Given the description of an element on the screen output the (x, y) to click on. 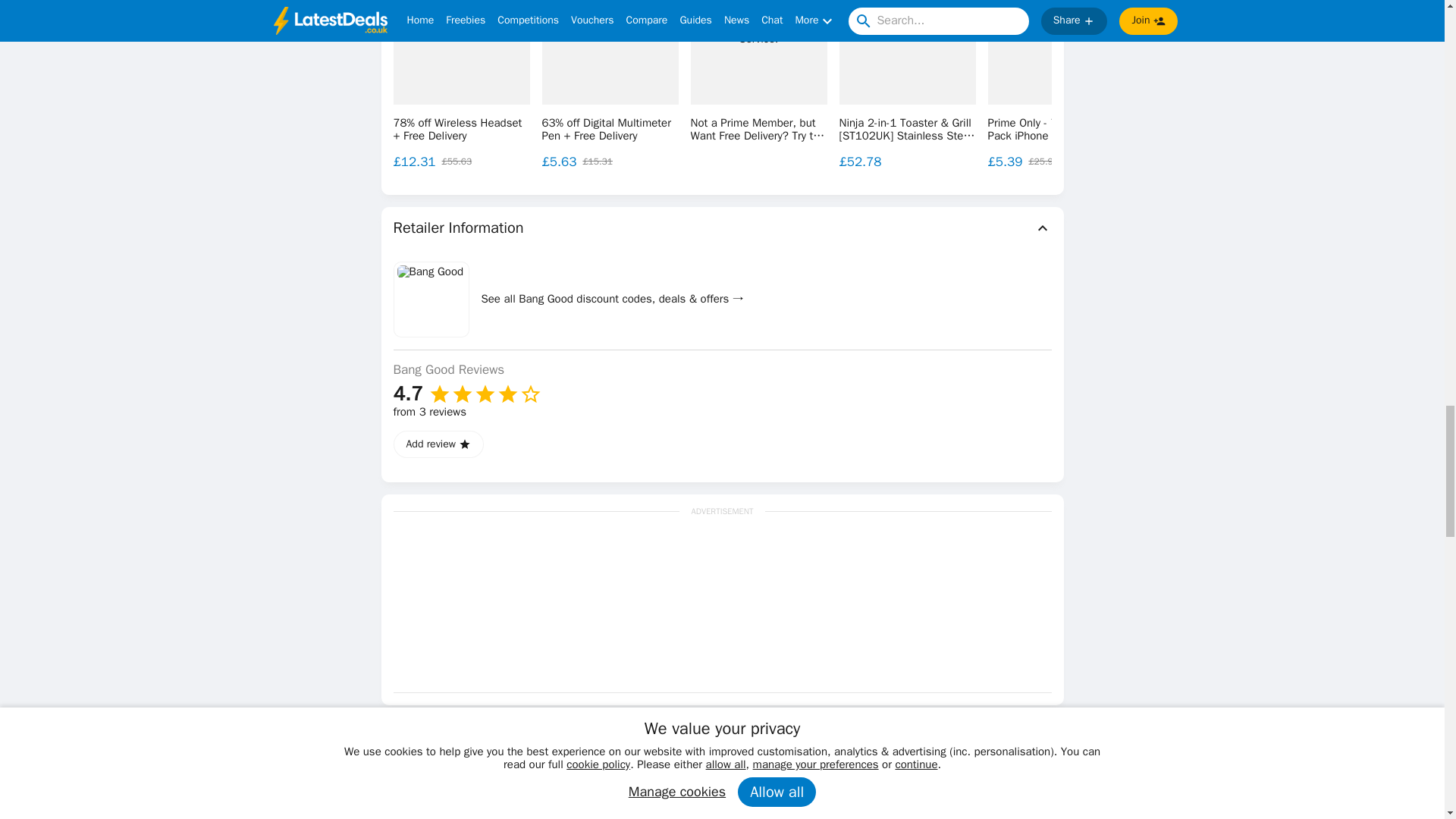
See more offers (1329, 68)
Retailer Information (722, 228)
